Given the description of an element on the screen output the (x, y) to click on. 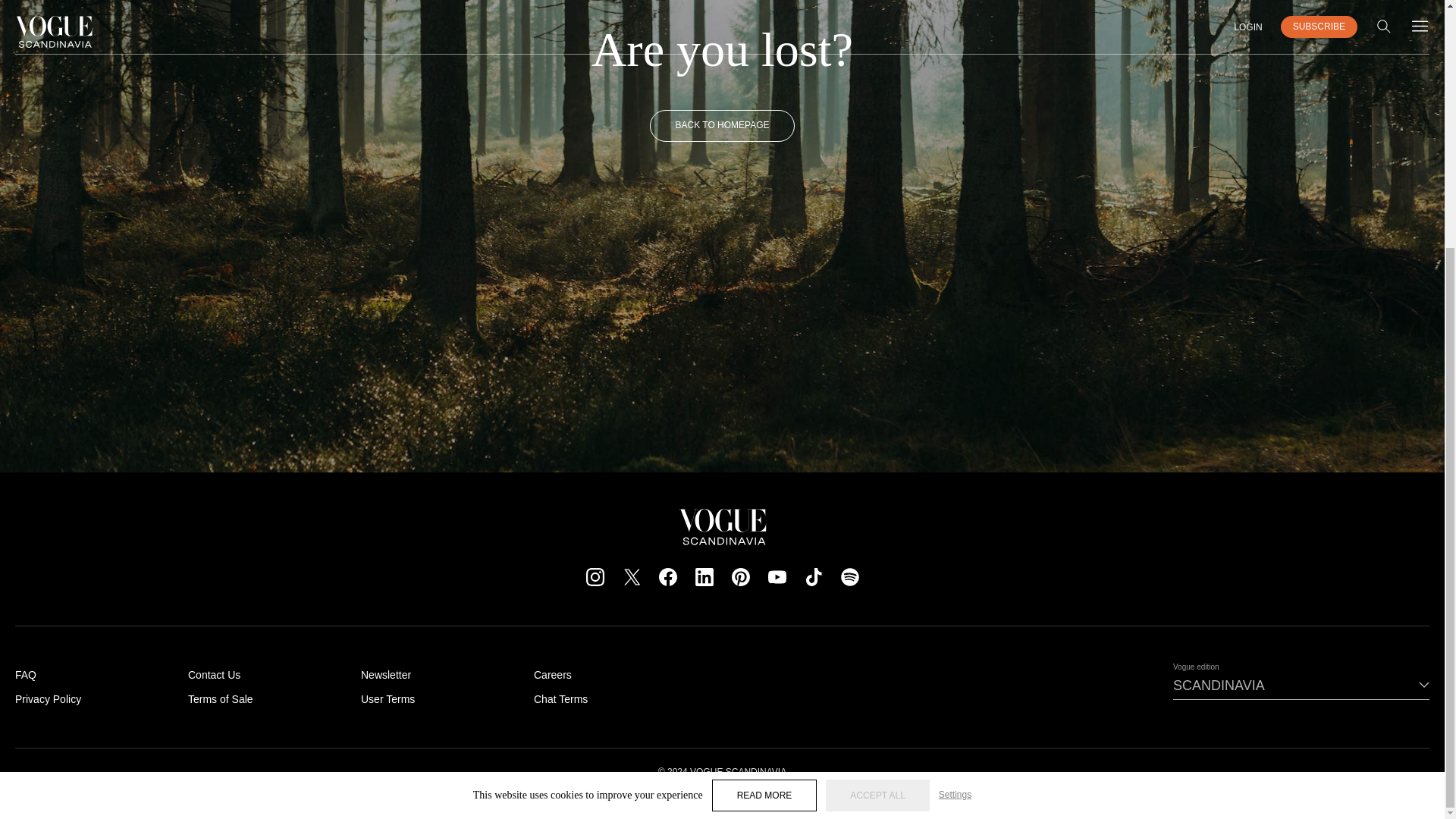
ACCEPT ALL (876, 449)
BACK TO HOMEPAGE (721, 125)
Chat Terms (561, 698)
Newsletter (385, 674)
READ MORE (763, 449)
Settings (955, 449)
Careers (553, 674)
User Terms (387, 698)
Privacy Policy (47, 698)
Contact Us (213, 674)
FAQ (25, 674)
Terms of Sale (220, 698)
